Given the description of an element on the screen output the (x, y) to click on. 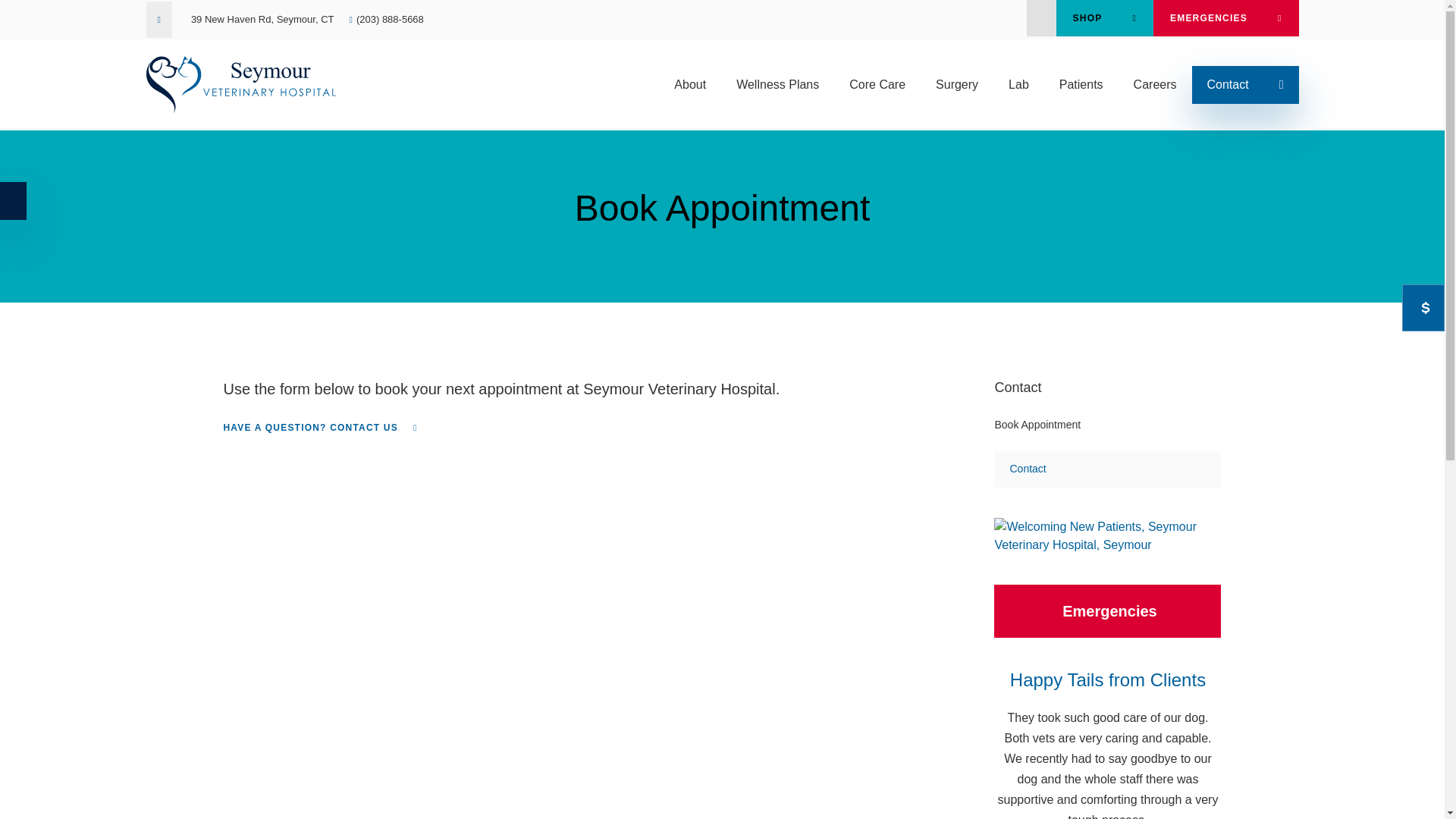
39 New Haven Rd Seymour CT (262, 19)
